Given the description of an element on the screen output the (x, y) to click on. 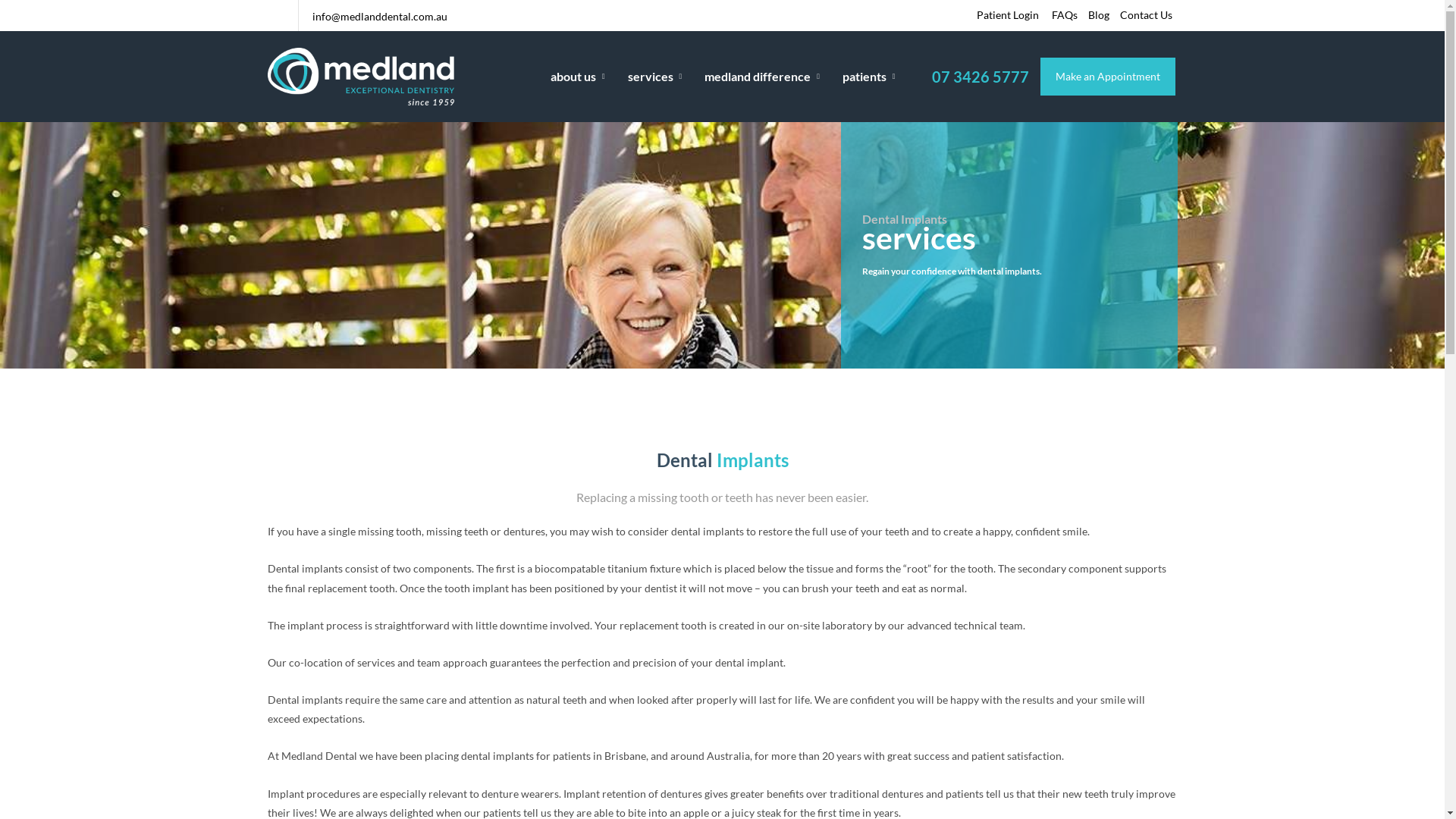
Blog Element type: text (1098, 15)
Contact Us Element type: text (1145, 15)
info@medlanddental.com.au Element type: text (379, 15)
07 3426 5777 Element type: text (979, 76)
about us Element type: text (577, 76)
FAQs Element type: text (1064, 15)
patients Element type: text (863, 76)
medland difference Element type: text (762, 76)
Patient Login Element type: text (1006, 15)
Make an Appointment Element type: text (1107, 75)
services Element type: text (654, 76)
